Given the description of an element on the screen output the (x, y) to click on. 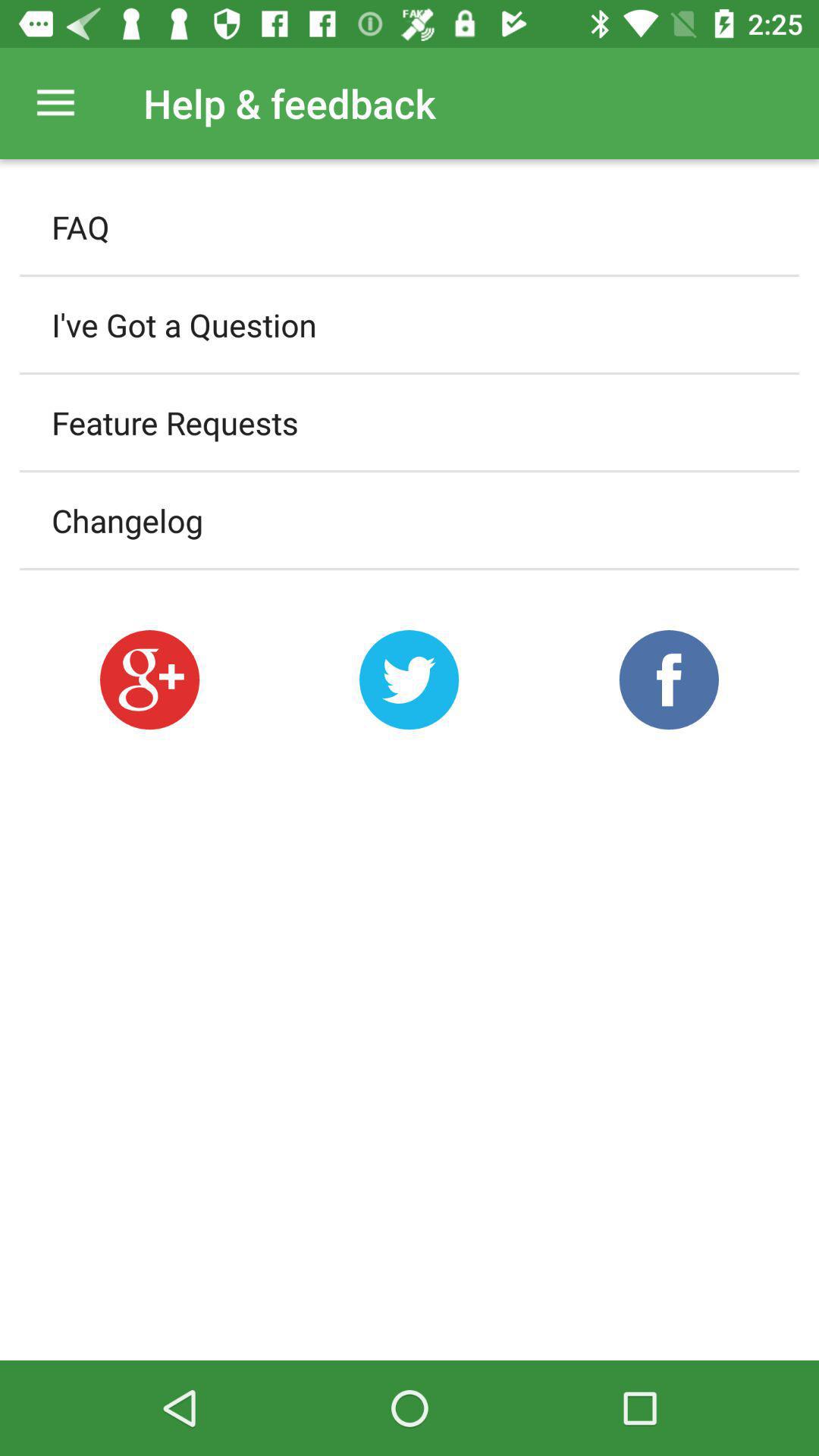
launch feature requests item (409, 422)
